Given the description of an element on the screen output the (x, y) to click on. 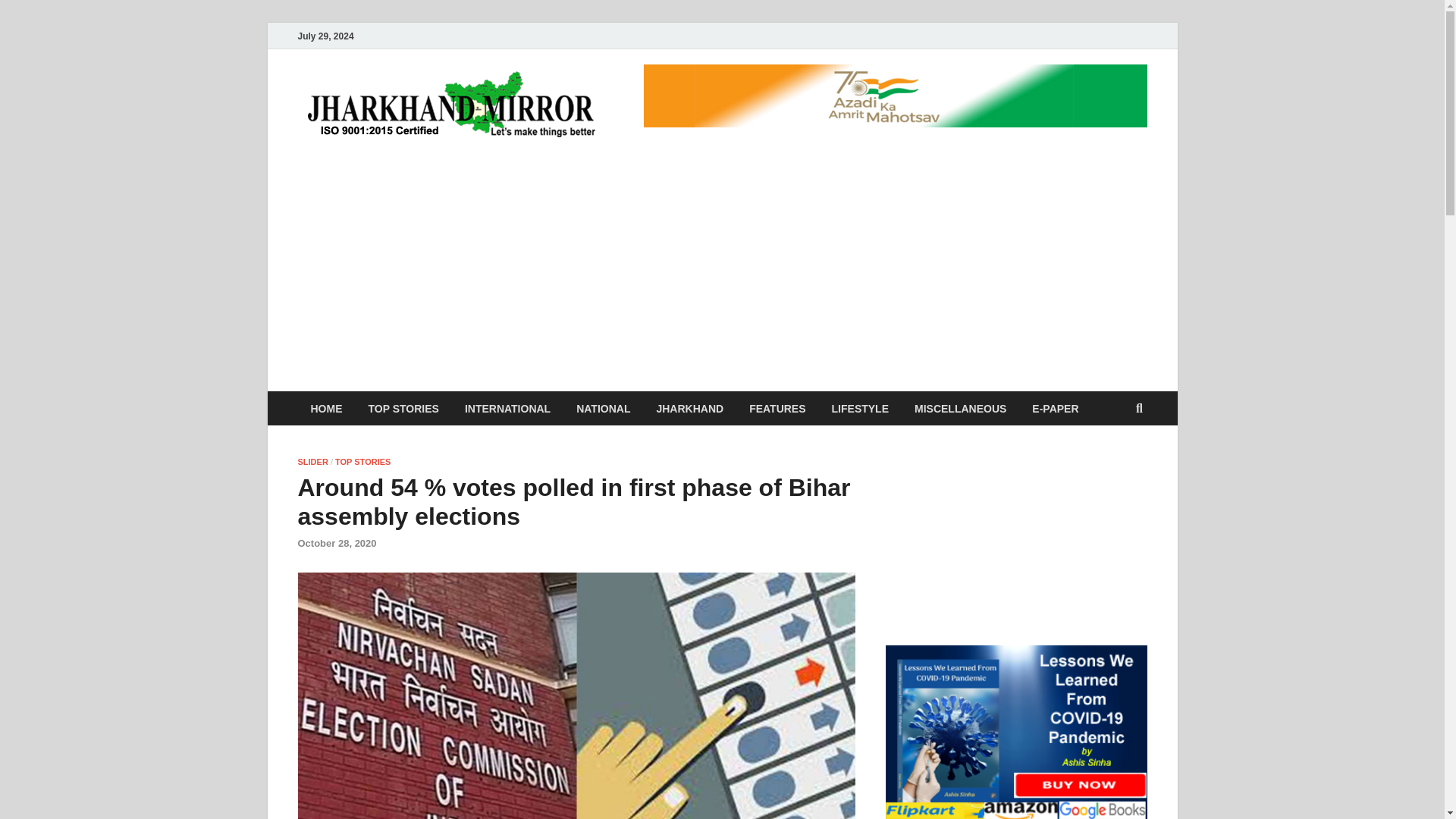
LIFESTYLE (859, 408)
HOME (326, 408)
Chandrayaan-3 Mission Soft-landing LIVE Telecast (1016, 528)
E-PAPER (1054, 408)
TOP STORIES (403, 408)
October 28, 2020 (336, 542)
TOP STORIES (362, 461)
FEATURES (777, 408)
INTERNATIONAL (507, 408)
JHARKHAND (689, 408)
Jharkhand Mirror (723, 100)
SLIDER (312, 461)
NATIONAL (603, 408)
MISCELLANEOUS (960, 408)
